Given the description of an element on the screen output the (x, y) to click on. 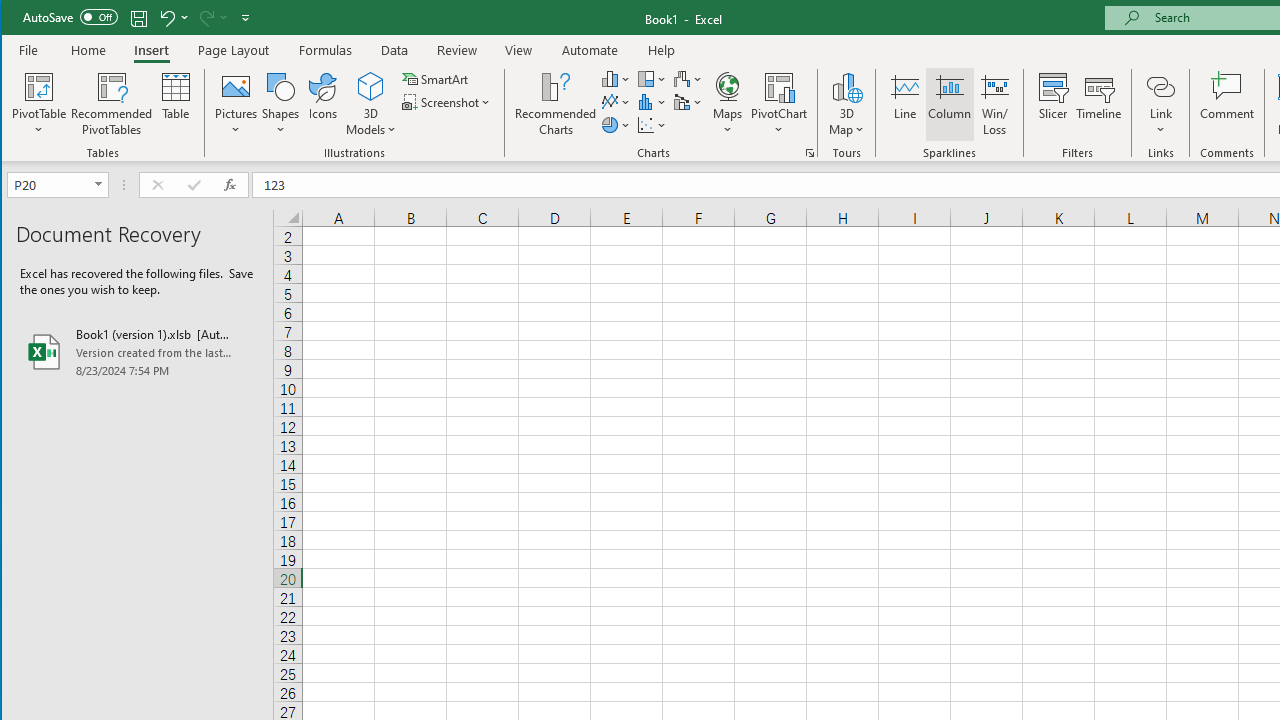
Pictures (235, 104)
Insert Waterfall, Funnel, Stock, Surface, or Radar Chart (688, 78)
Link (1160, 104)
Comment (1227, 104)
SmartArt... (436, 78)
3D Map (846, 86)
PivotChart (779, 86)
Insert Statistic Chart (652, 101)
Screenshot (447, 101)
